Given the description of an element on the screen output the (x, y) to click on. 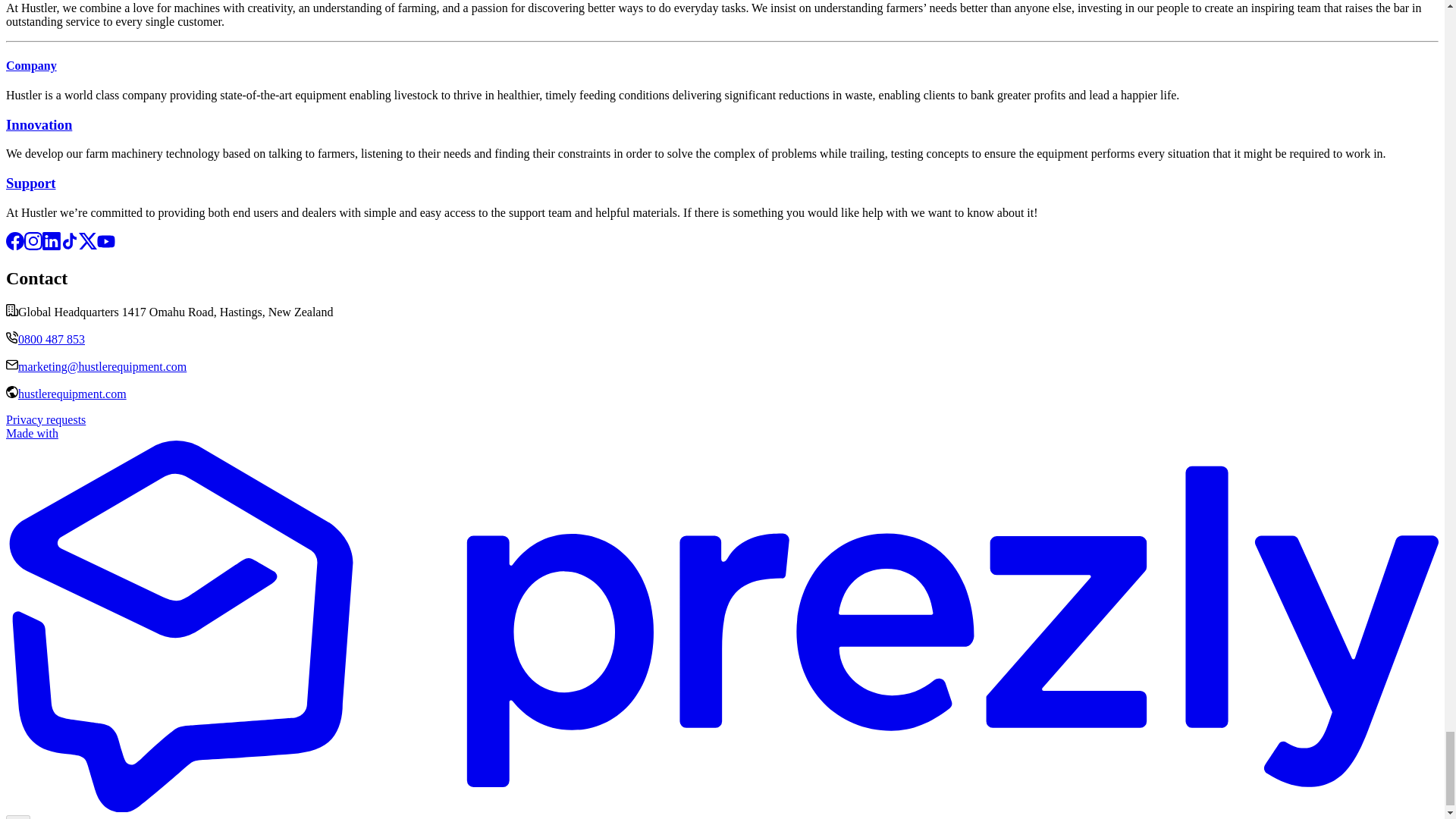
Youtube (106, 245)
Privacy requests (45, 419)
Facebook (14, 245)
X (87, 245)
Company (30, 65)
hustlerequipment.com (71, 393)
0800 487 853 (50, 338)
Support (30, 182)
Instagram (33, 245)
LinkedIn (51, 245)
TikTok (69, 245)
Innovation (38, 124)
